Given the description of an element on the screen output the (x, y) to click on. 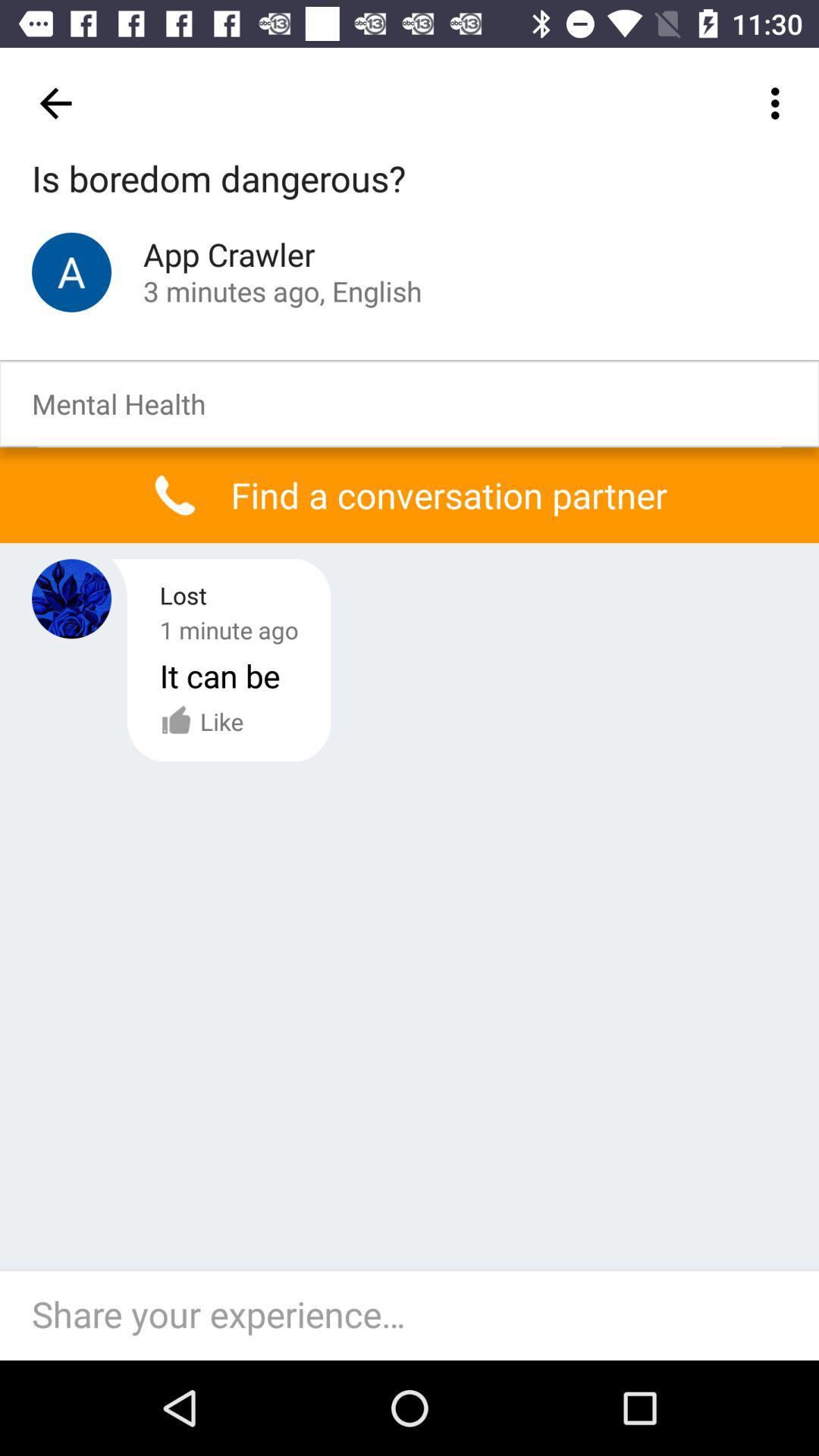
turn on the icon below the 1 minute ago (219, 675)
